Given the description of an element on the screen output the (x, y) to click on. 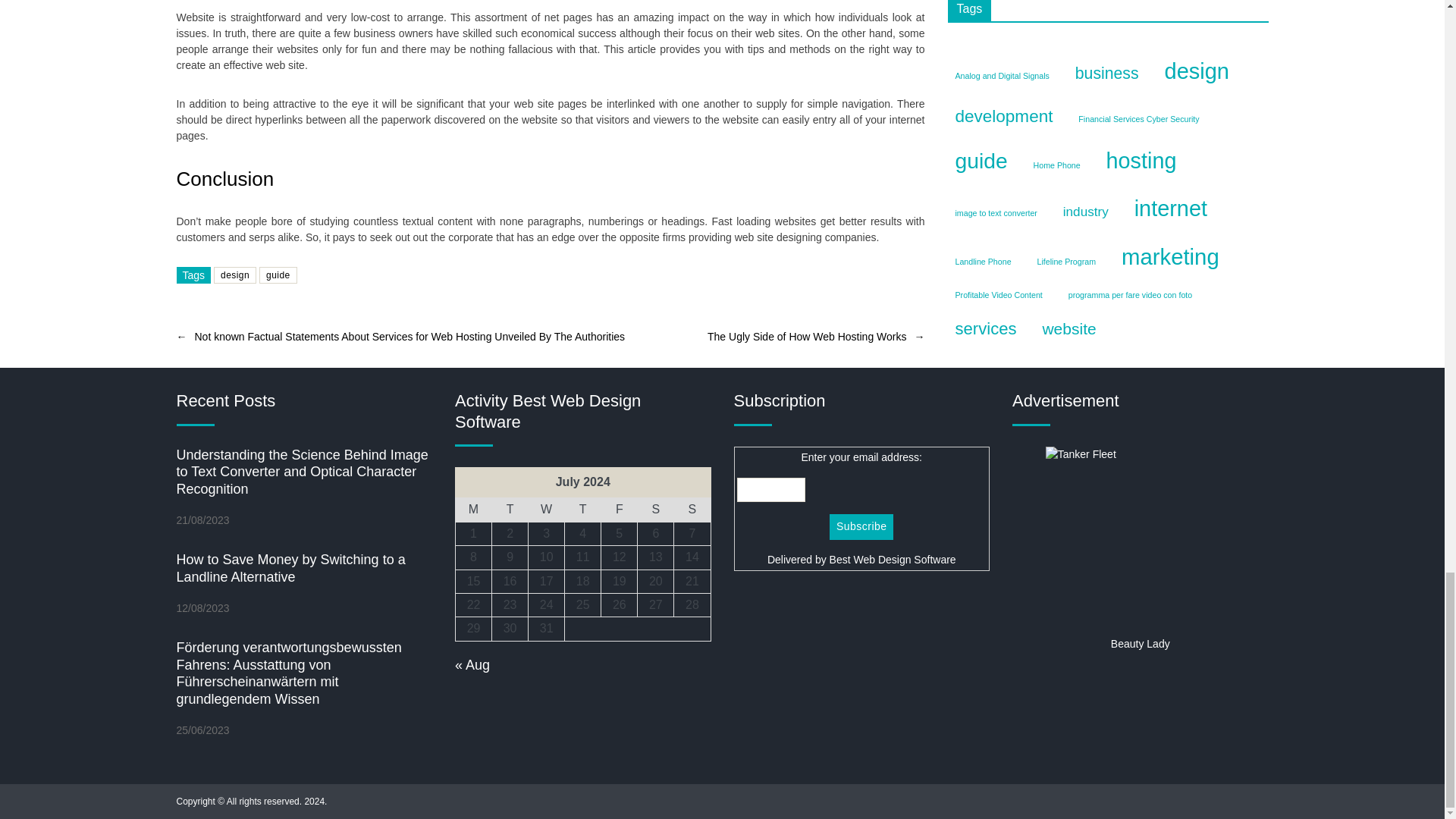
Tuesday (510, 509)
Monday (473, 509)
guide (278, 274)
design (235, 274)
Subscribe (861, 526)
Wednesday (546, 509)
